Given the description of an element on the screen output the (x, y) to click on. 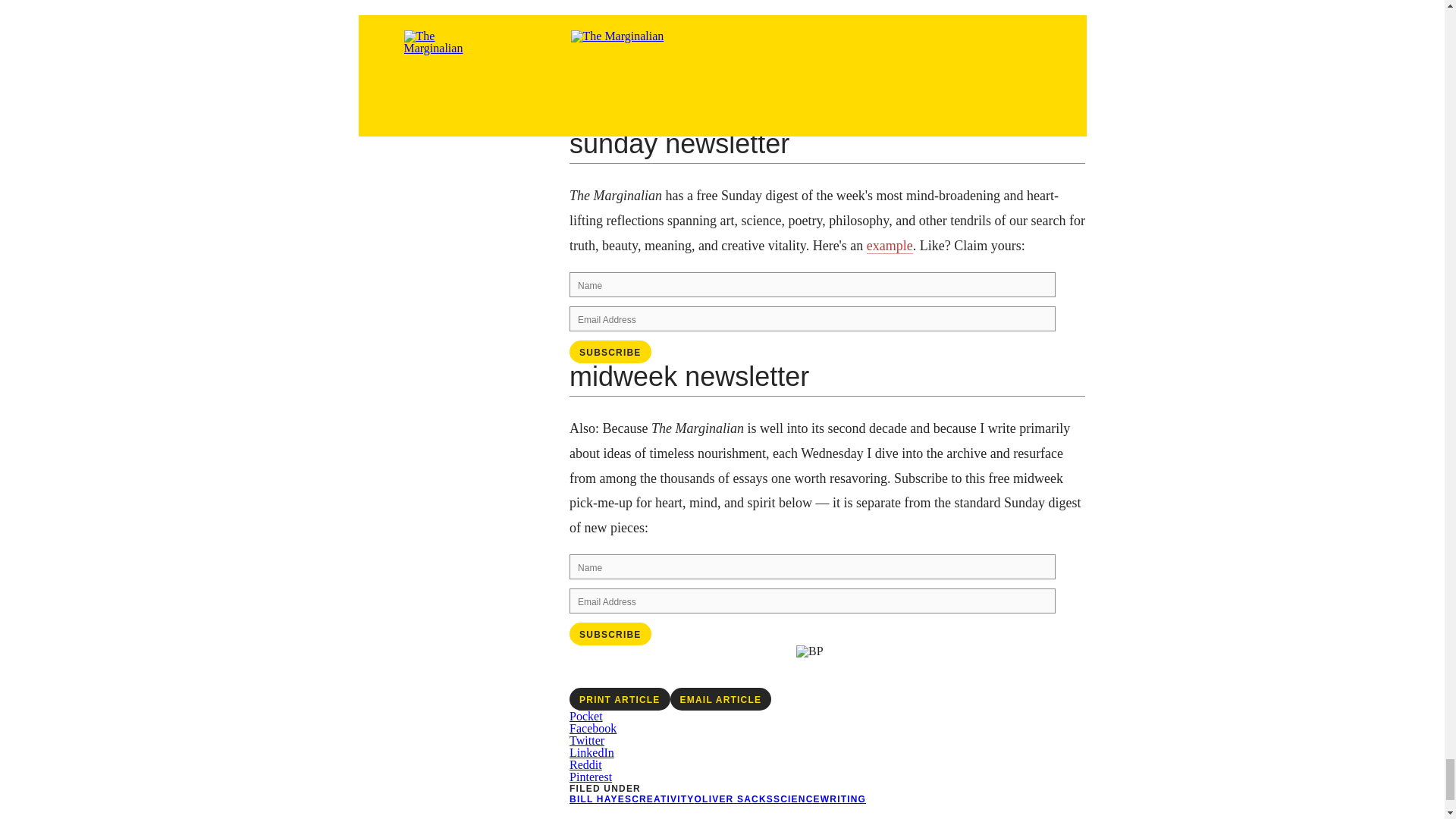
Click to share on Pocket (585, 716)
Click to share on Pinterest (590, 776)
Click to share on Twitter (586, 739)
Subscribe (609, 351)
Click to share on Facebook (592, 727)
Subscribe (609, 633)
Click to share on LinkedIn (591, 752)
Click to share on Reddit (585, 764)
